Given the description of an element on the screen output the (x, y) to click on. 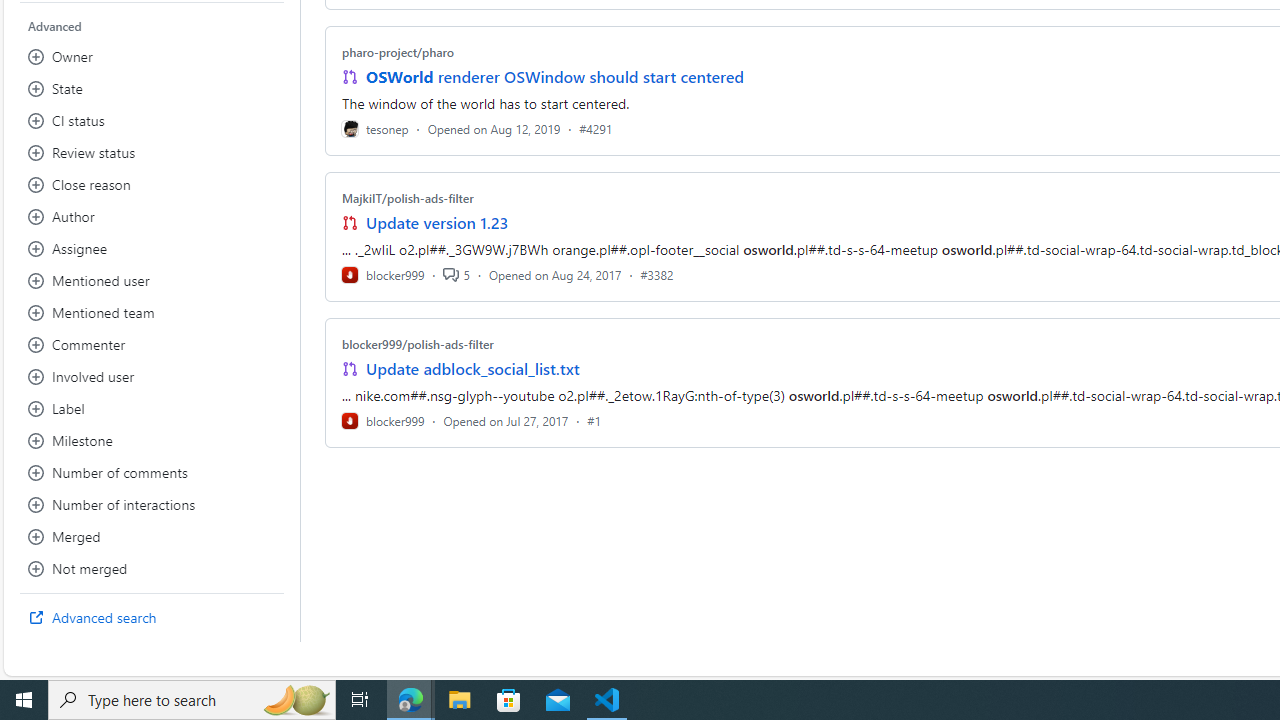
#1 (594, 420)
#4291 (595, 128)
Advanced search (152, 617)
#4291 (595, 128)
#1 (594, 420)
